Given the description of an element on the screen output the (x, y) to click on. 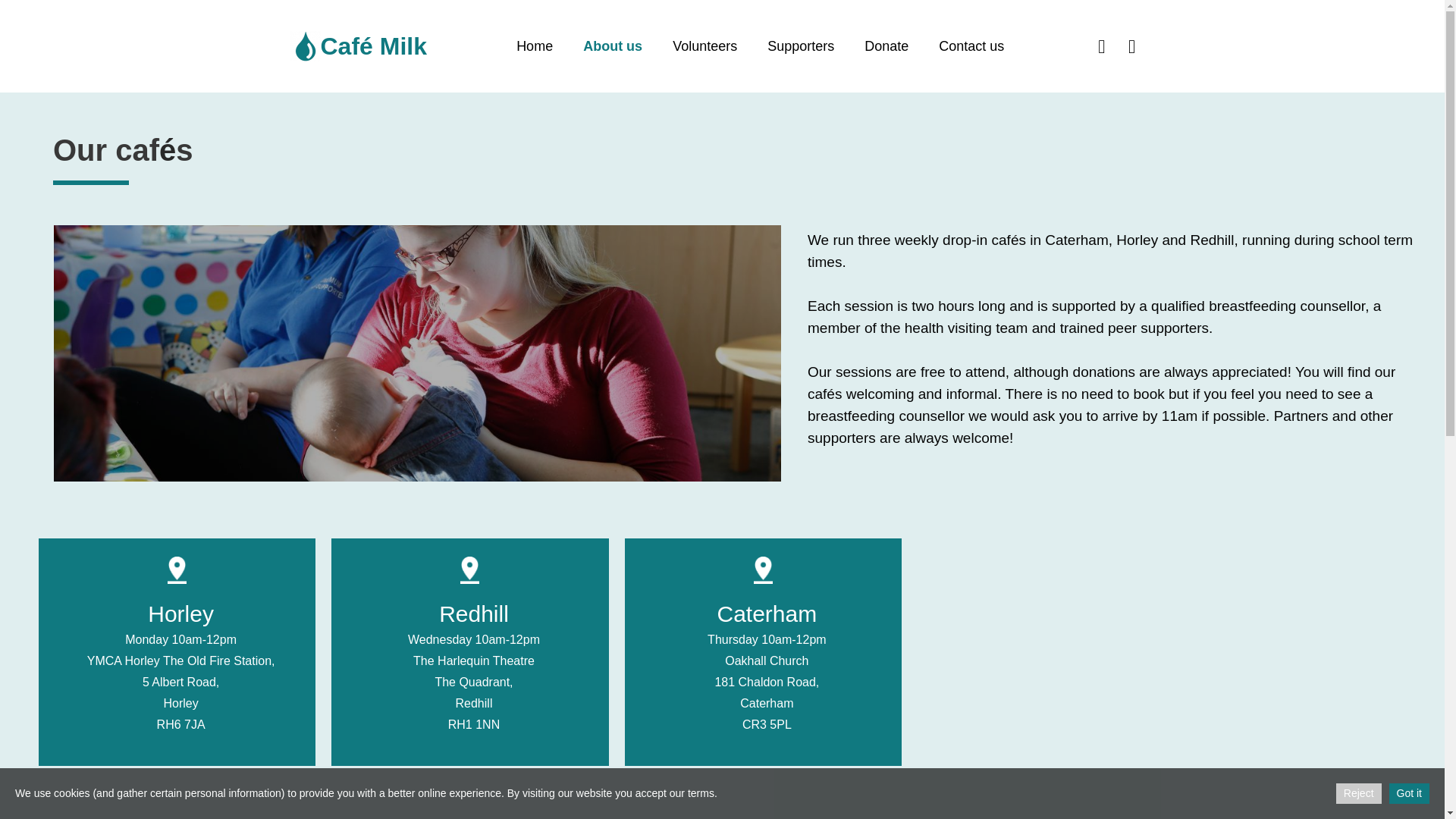
Reject (1358, 792)
Donate (885, 46)
Contact us (971, 46)
Home (533, 46)
Got it (1409, 792)
Supporters (800, 46)
About us (612, 46)
Volunteers (705, 46)
